Given the description of an element on the screen output the (x, y) to click on. 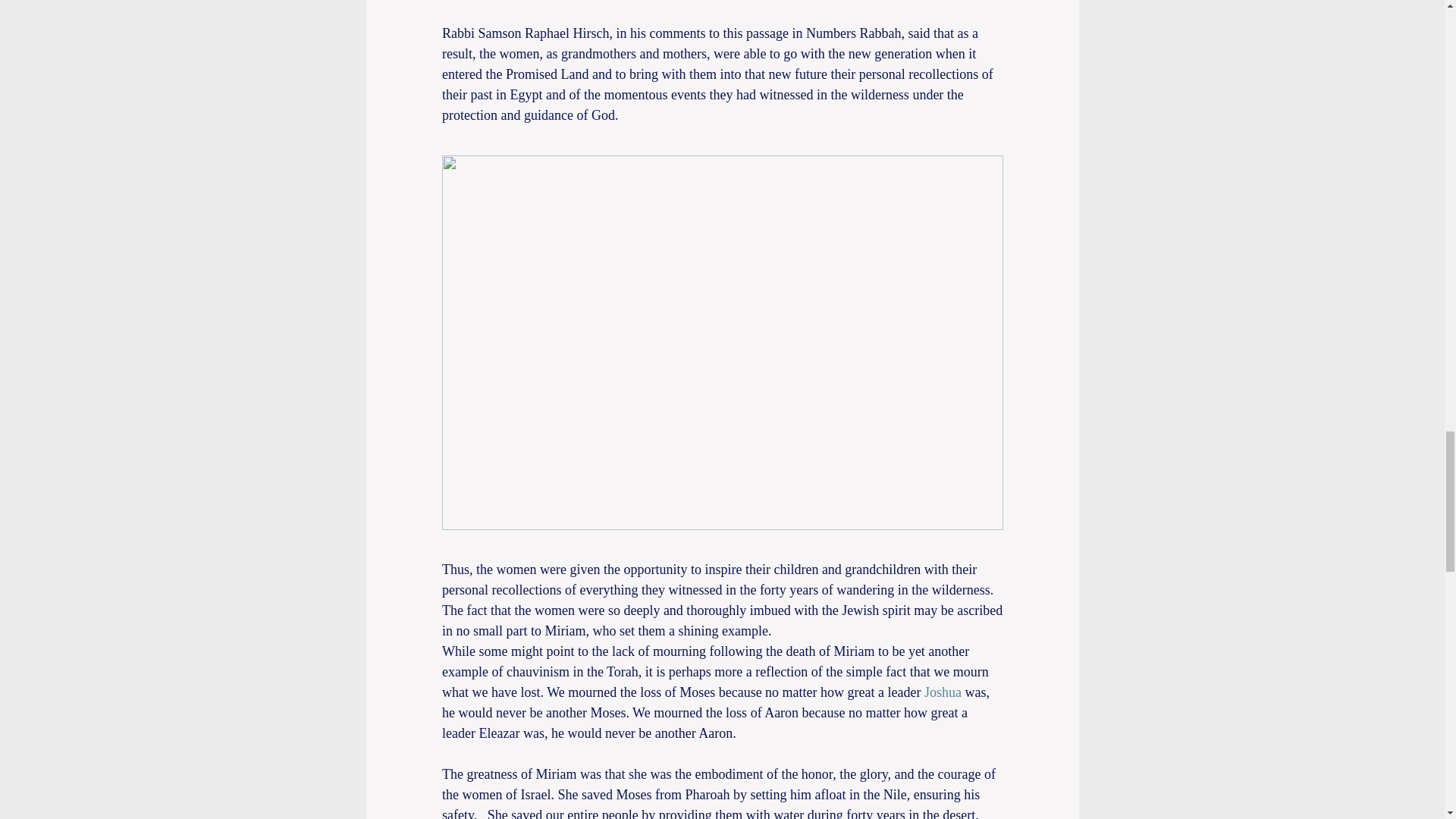
Joshua (942, 692)
